Given the description of an element on the screen output the (x, y) to click on. 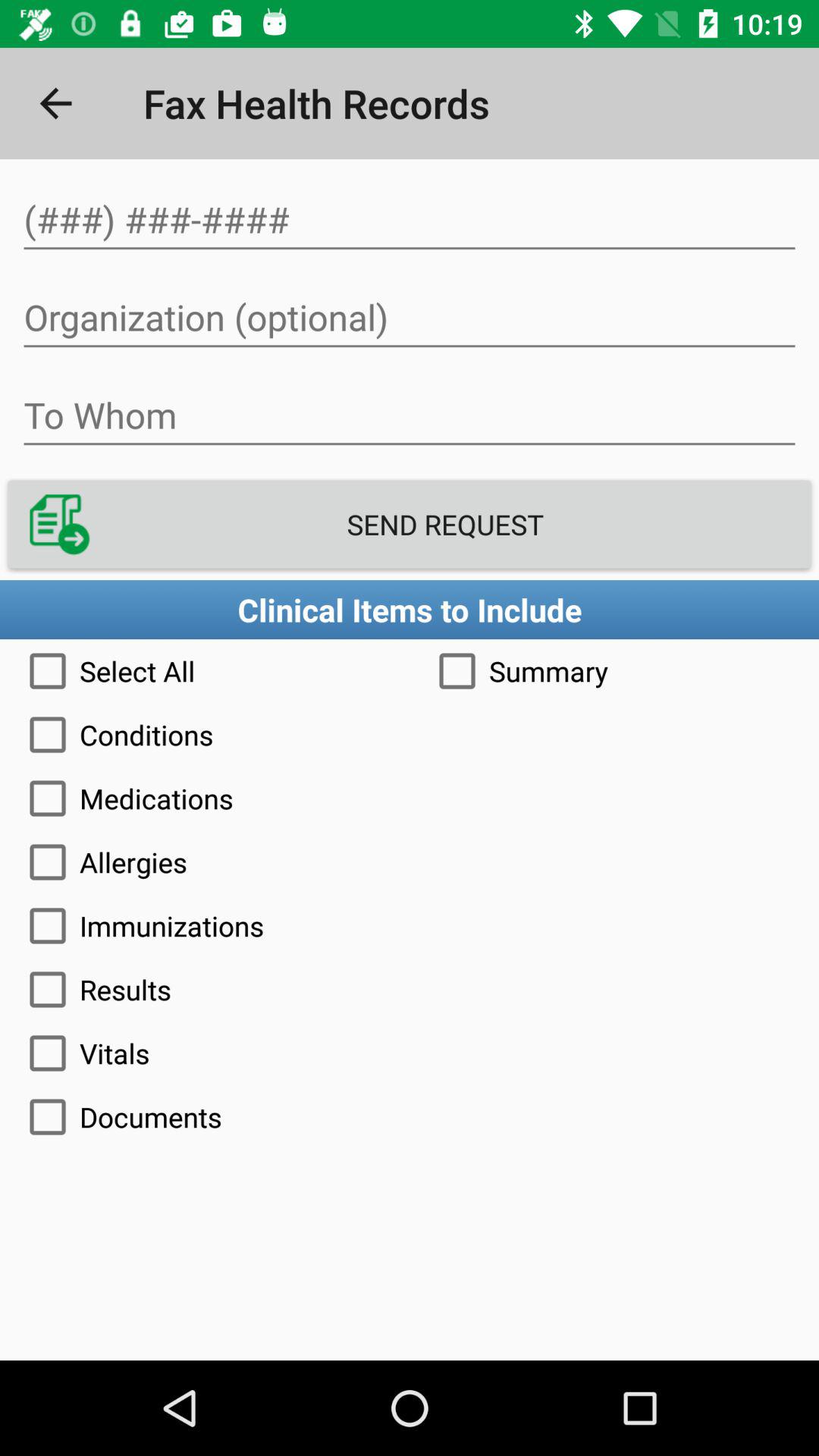
enter phone number (409, 220)
